Given the description of an element on the screen output the (x, y) to click on. 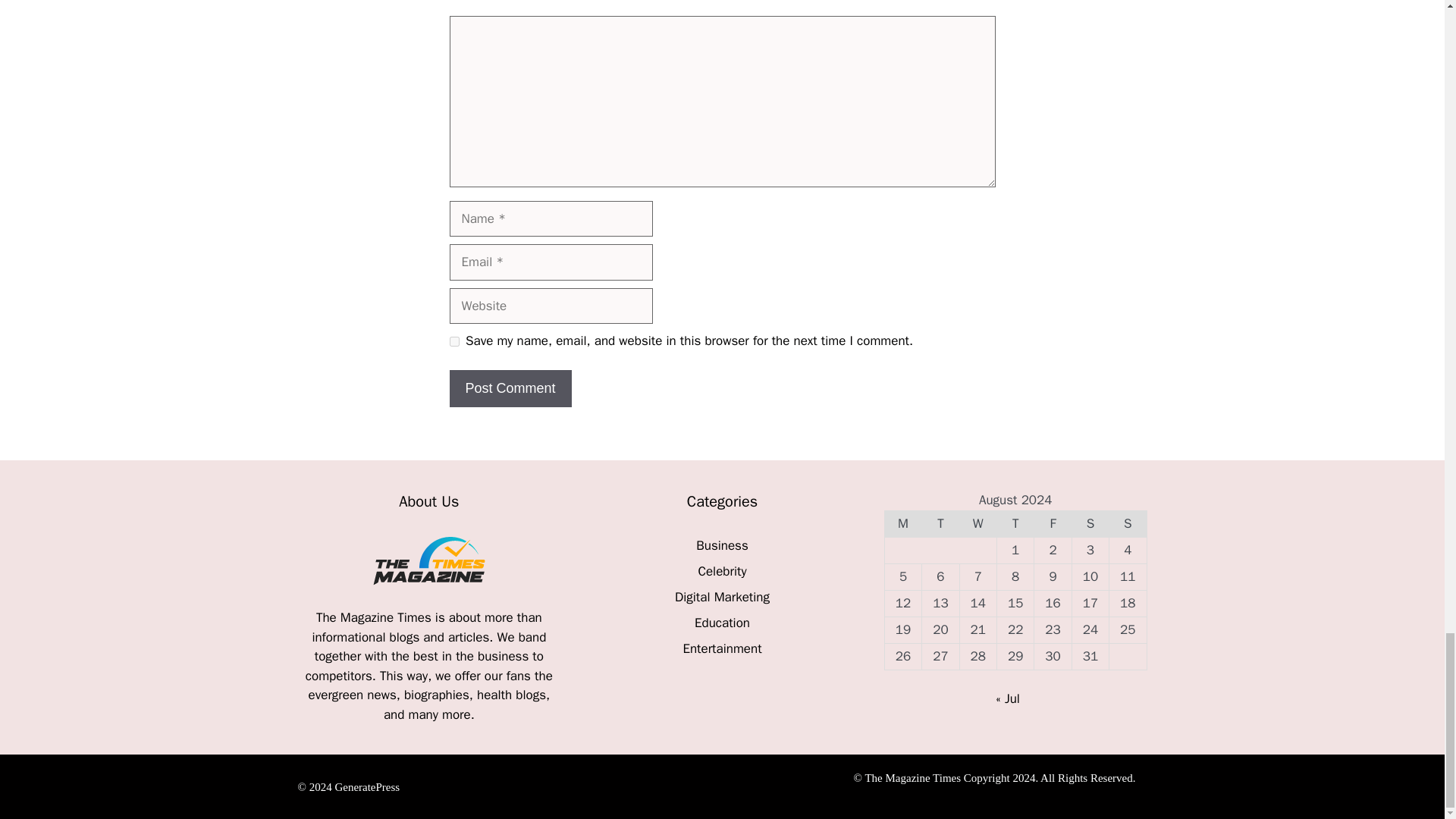
The Magazine Times  (375, 617)
Celebrity (721, 571)
Wednesday (977, 523)
Business (721, 545)
yes (453, 341)
Tuesday (940, 523)
Post Comment (509, 388)
Monday (902, 523)
Thursday (1014, 523)
Sunday (1128, 523)
Post Comment (509, 388)
Friday (1052, 523)
Saturday (1089, 523)
